Given the description of an element on the screen output the (x, y) to click on. 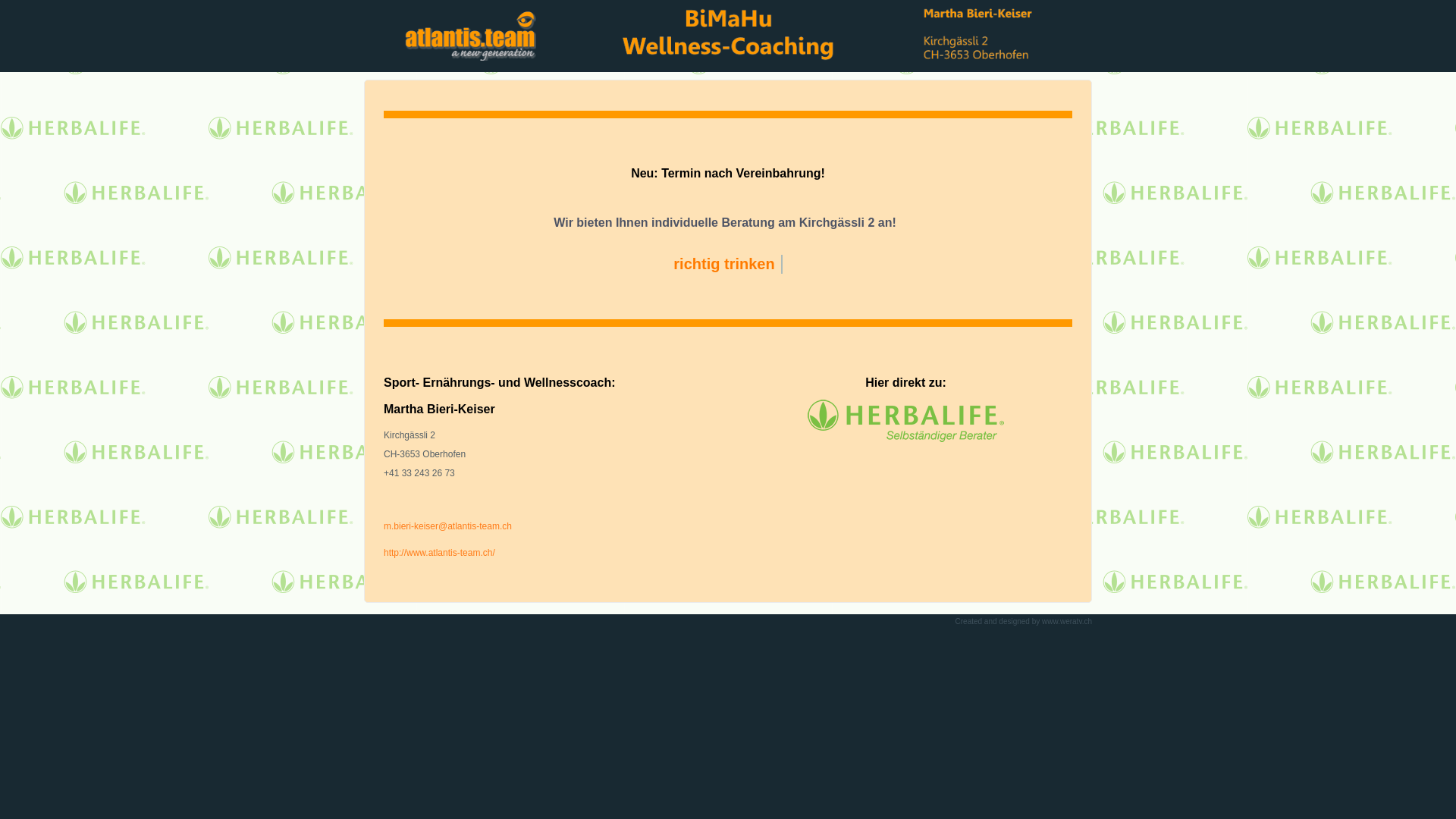
www.weratv.ch Element type: text (1066, 621)
http://www.atlantis-team.ch/ Element type: text (439, 552)
m.bieri-keiser@atlantis-team.ch Element type: text (447, 525)
